Given the description of an element on the screen output the (x, y) to click on. 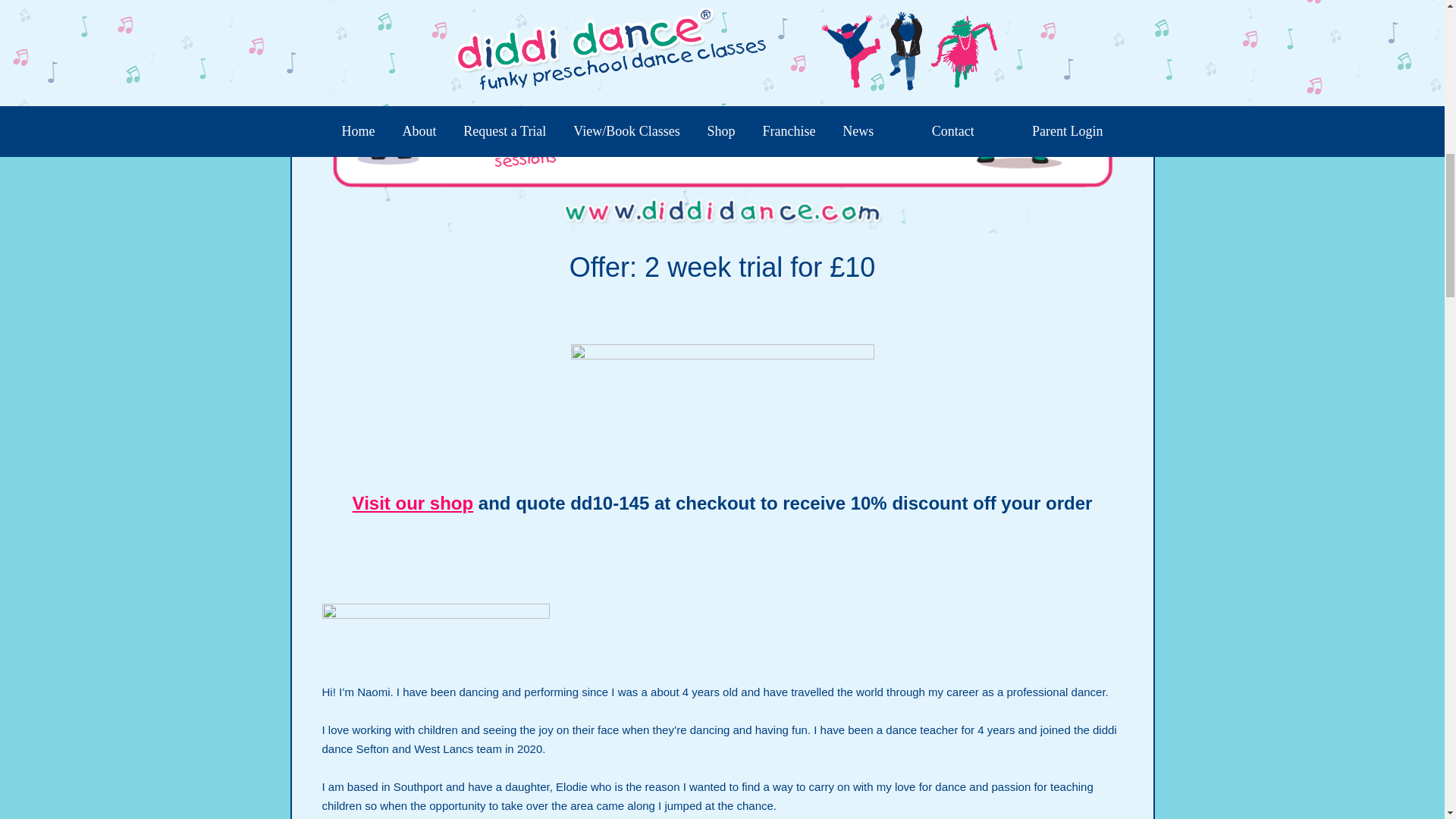
Visit our shop (413, 503)
